Given the description of an element on the screen output the (x, y) to click on. 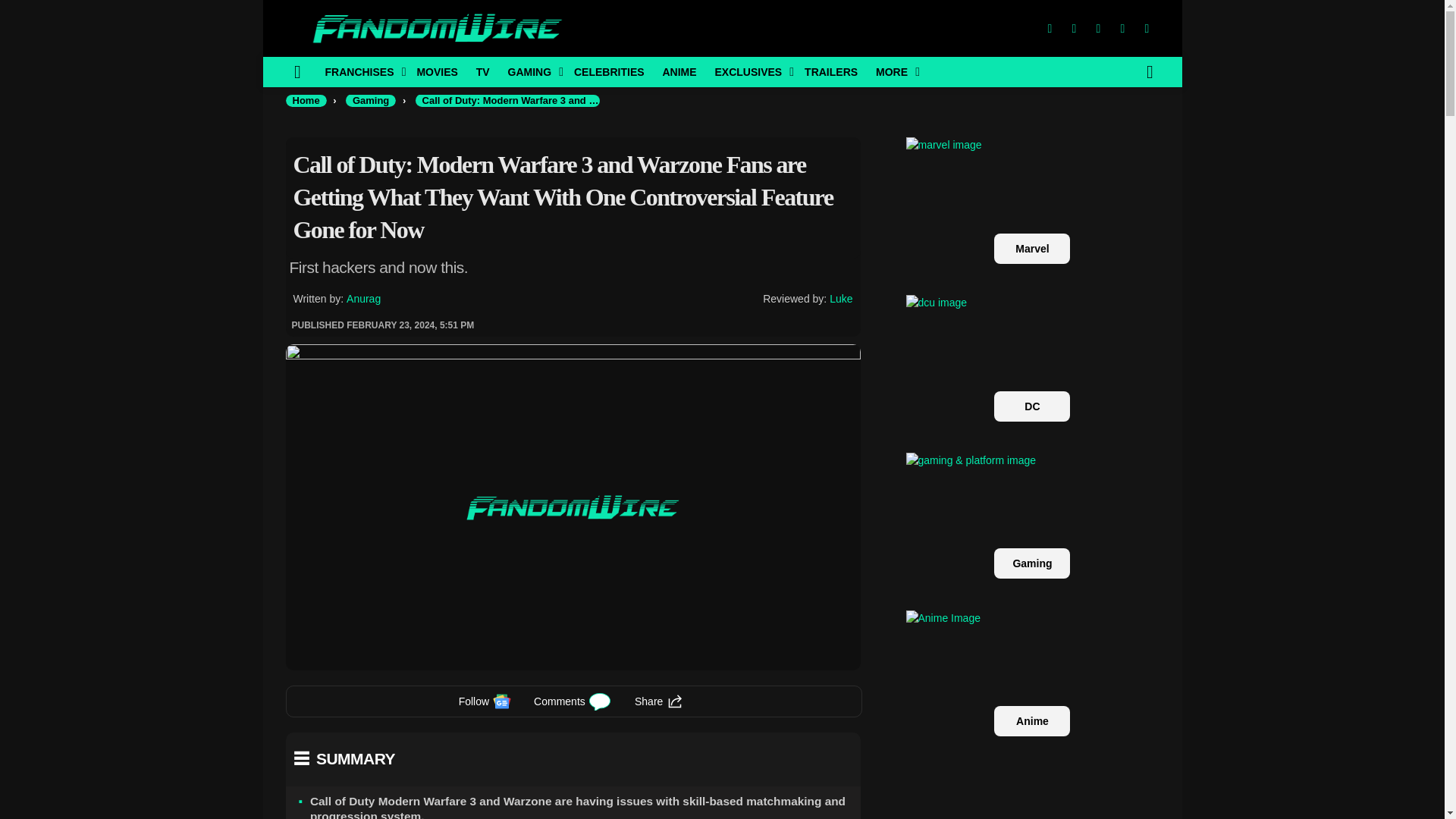
TV (482, 71)
YT (1146, 28)
TRAILERS (830, 71)
Twitter (1073, 28)
EXCLUSIVES (749, 71)
GAMING (532, 71)
FRANCHISES (361, 71)
Facebook (1048, 28)
ANIME (678, 71)
MOVIES (436, 71)
